Given the description of an element on the screen output the (x, y) to click on. 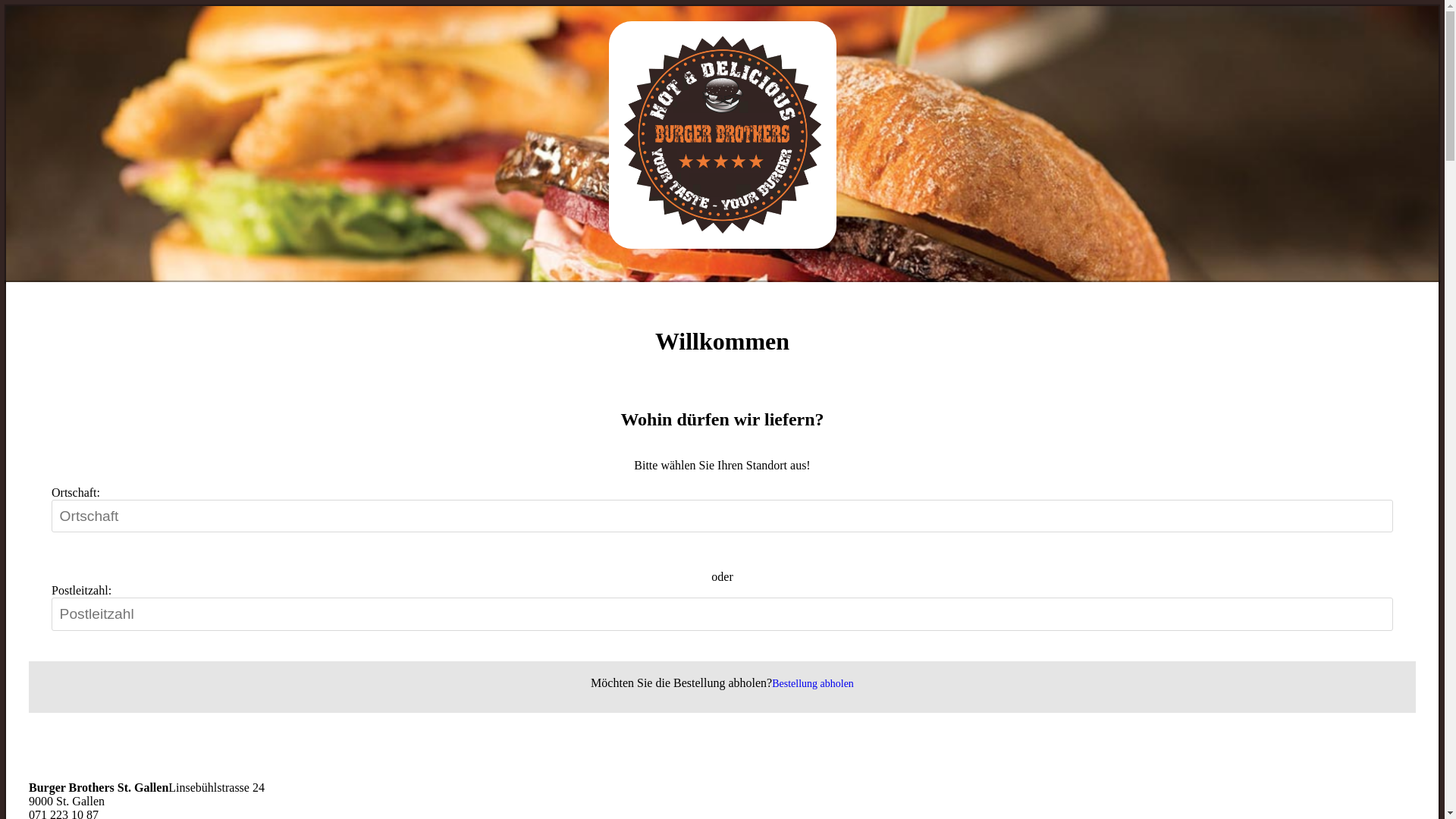
Bestellung abholen Element type: text (812, 683)
